Given the description of an element on the screen output the (x, y) to click on. 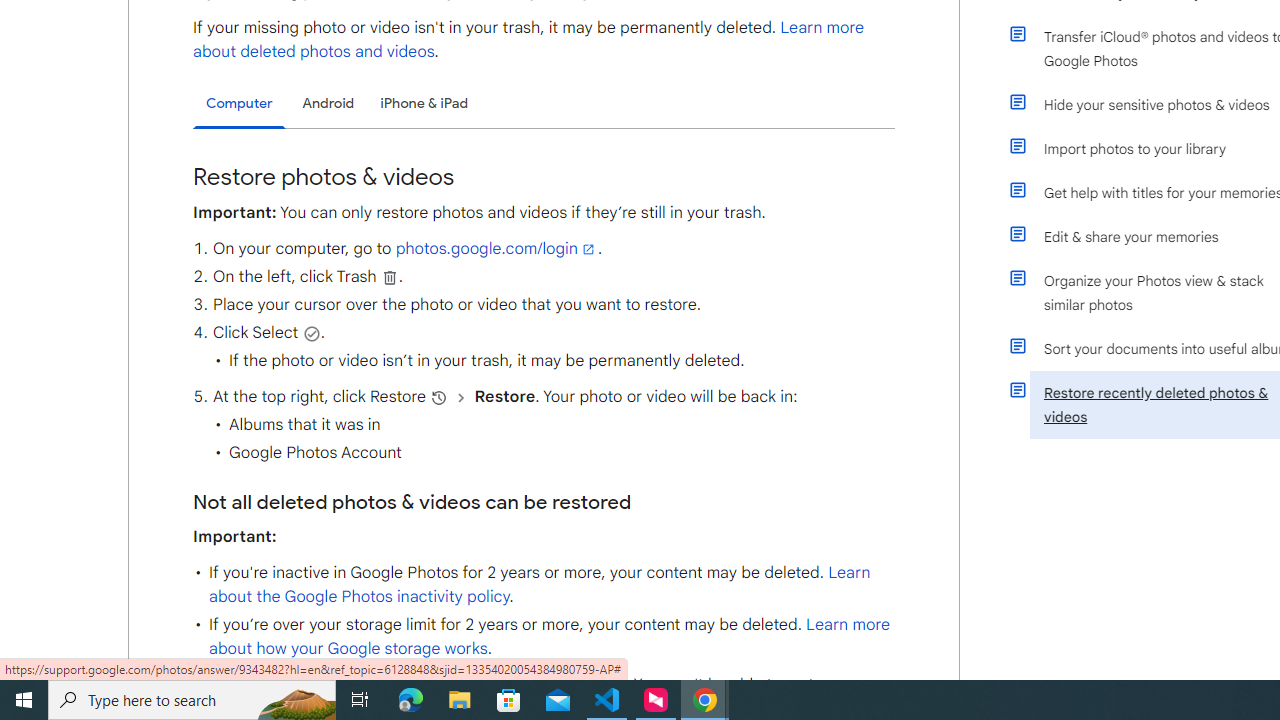
photos.google.com/login (496, 249)
Computer (239, 103)
Delete (389, 277)
Select (311, 333)
Learn about the Google Photos inactivity policy (539, 584)
Learn more about how your Google storage works (548, 636)
Learn more about deleted photos and videos (529, 39)
Android (328, 102)
iPhone & iPad (424, 102)
and then (461, 397)
